Given the description of an element on the screen output the (x, y) to click on. 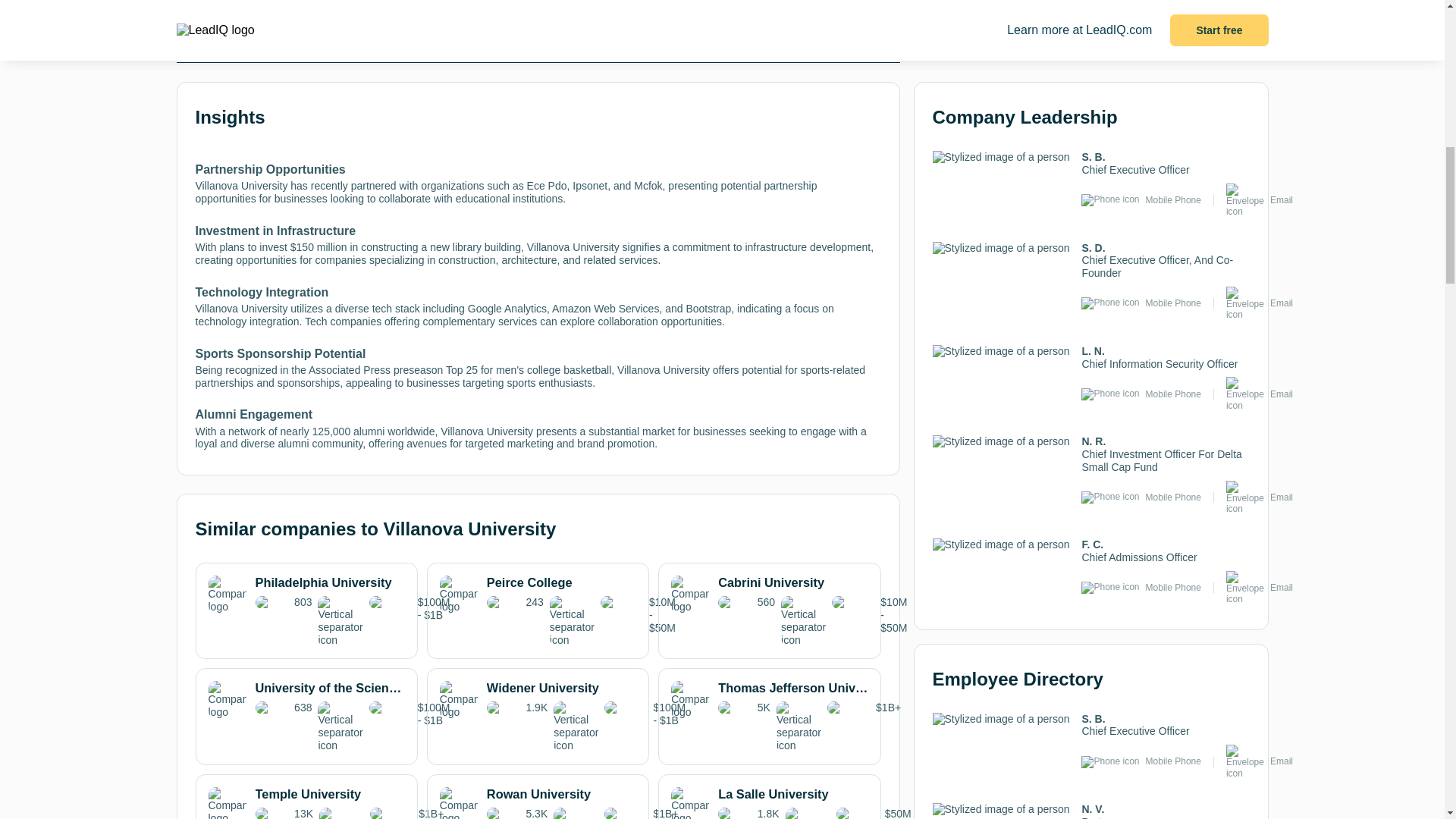
FAQ (838, 38)
Similar companies (357, 45)
Tech Stack (476, 38)
Insights (236, 40)
Email Format (718, 45)
